Given the description of an element on the screen output the (x, y) to click on. 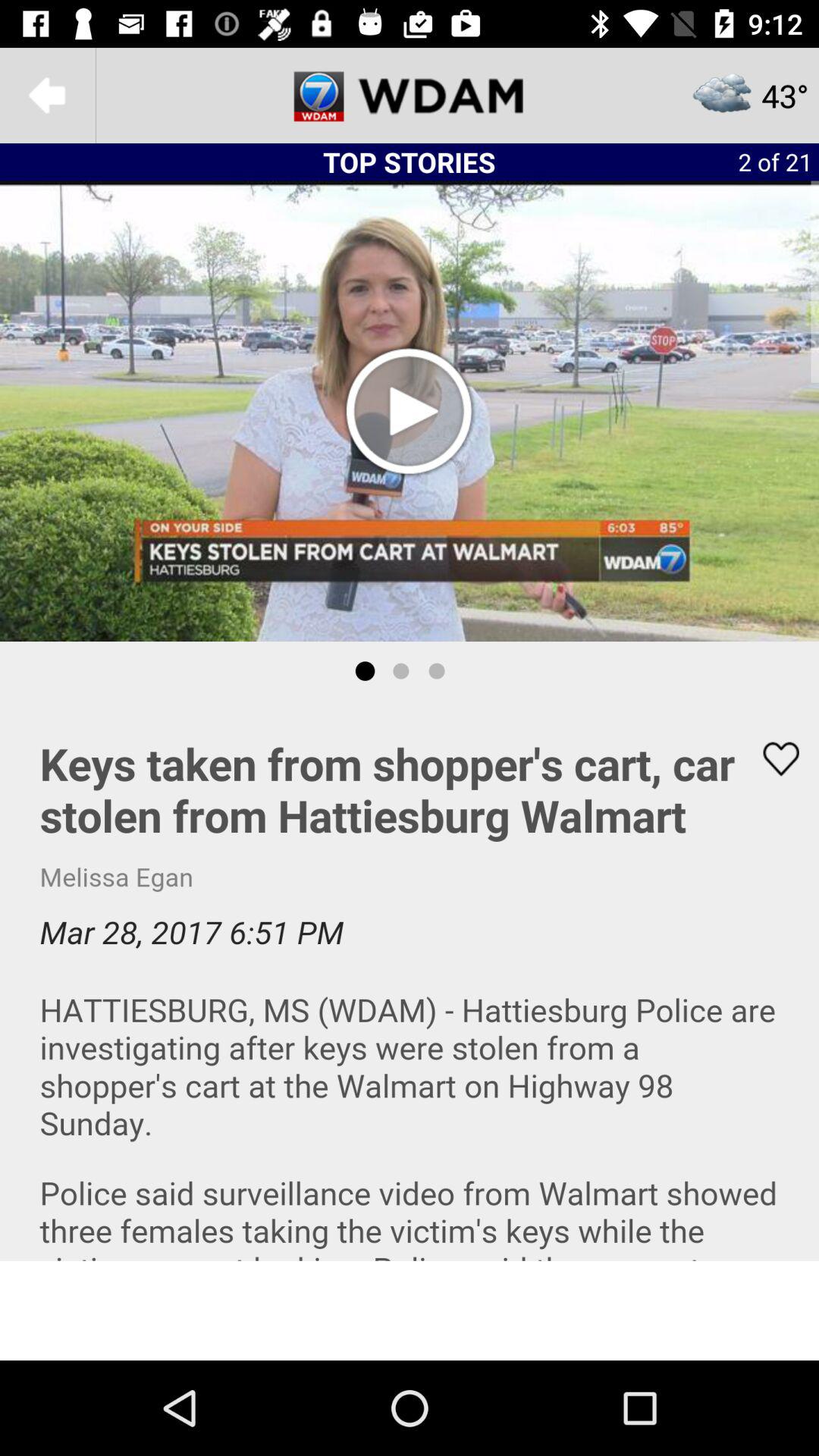
news channel (409, 95)
